Given the description of an element on the screen output the (x, y) to click on. 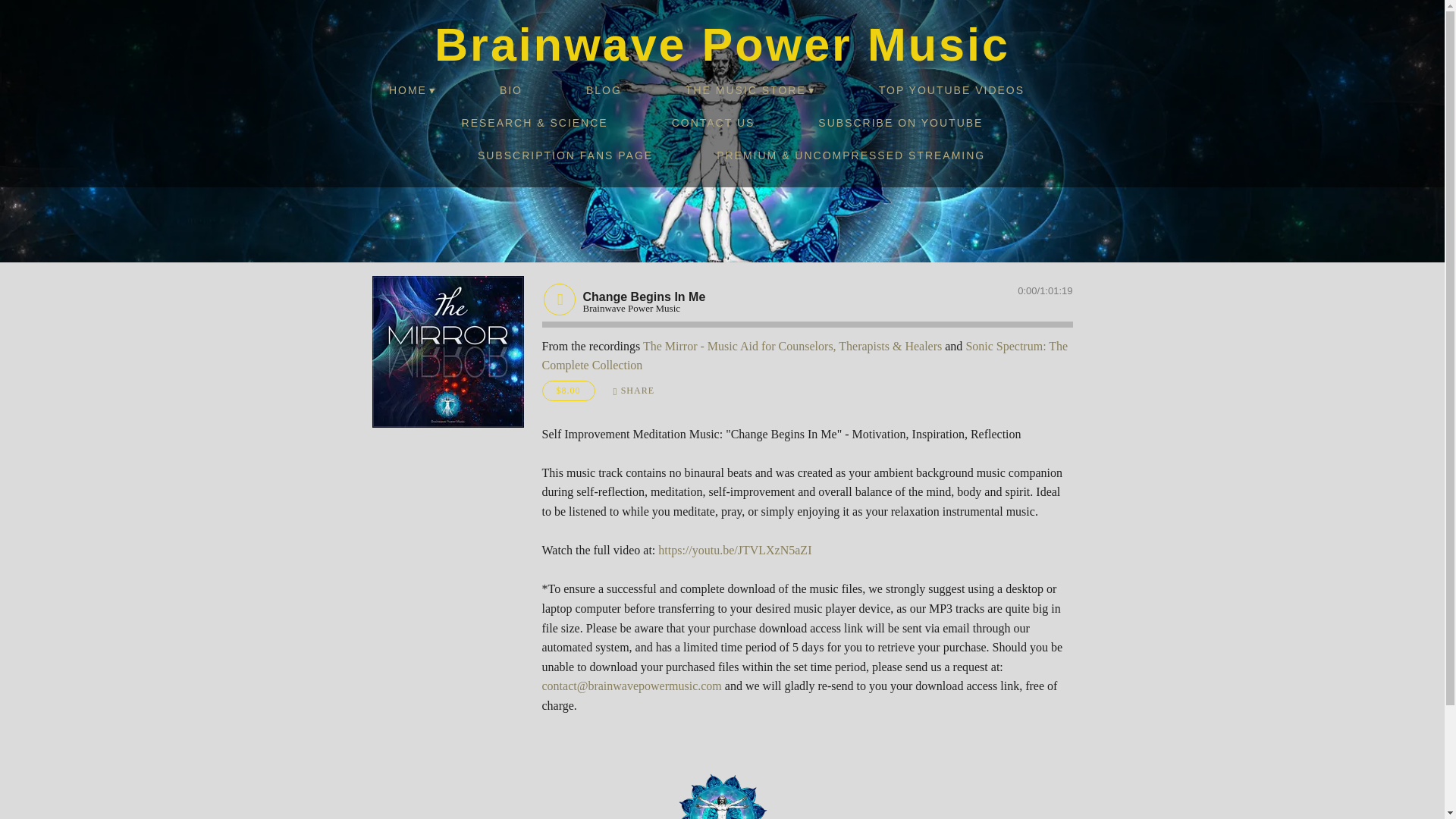
HOME (412, 90)
BLOG (603, 90)
Brainwave Power Music (721, 44)
Share Change Begins In Me (633, 390)
BIO (510, 90)
Play (558, 298)
